Given the description of an element on the screen output the (x, y) to click on. 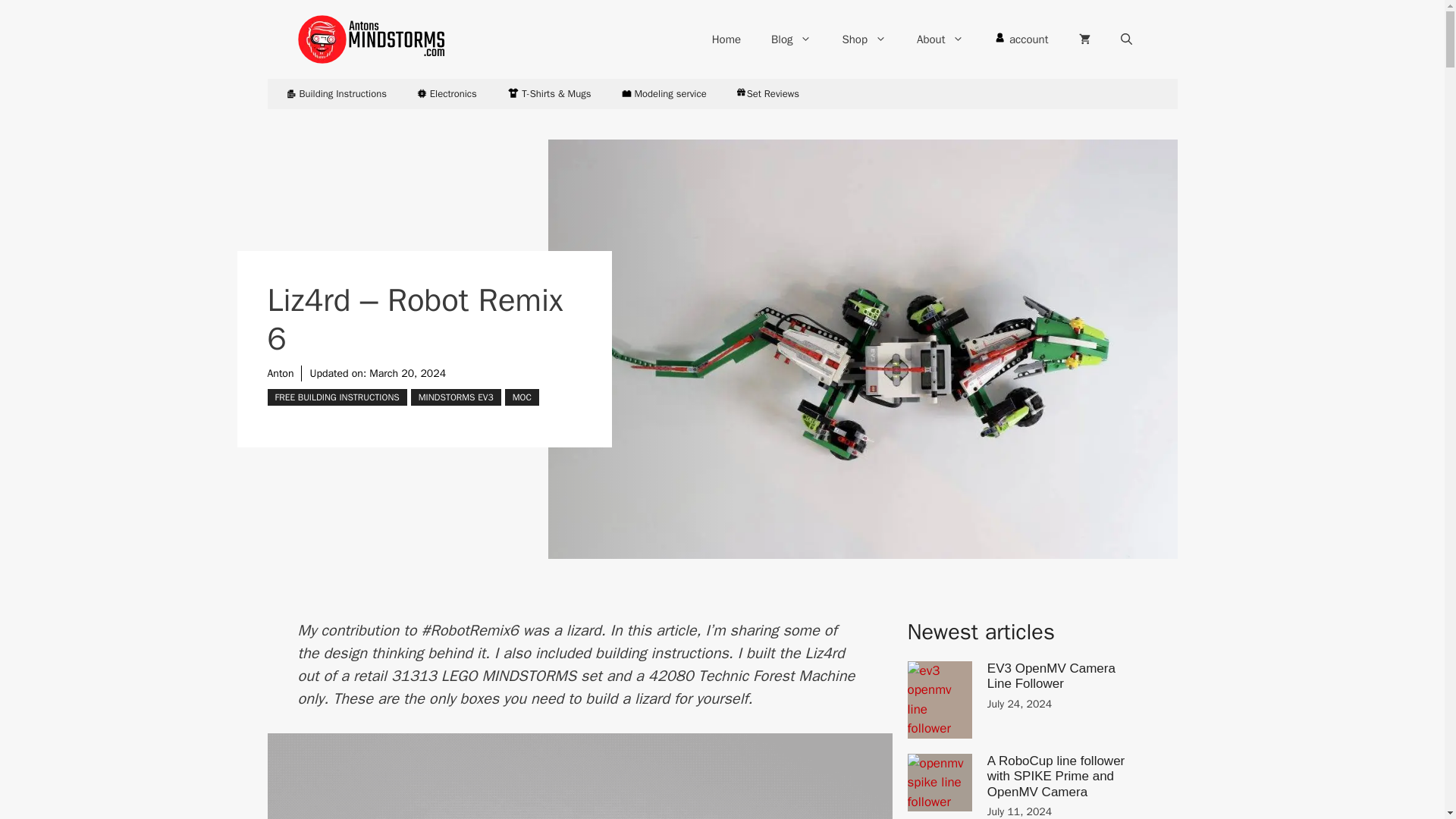
View your shopping cart (1083, 39)
About (939, 39)
Shop (864, 39)
account (1020, 39)
Home (726, 39)
Blog (791, 39)
